Given the description of an element on the screen output the (x, y) to click on. 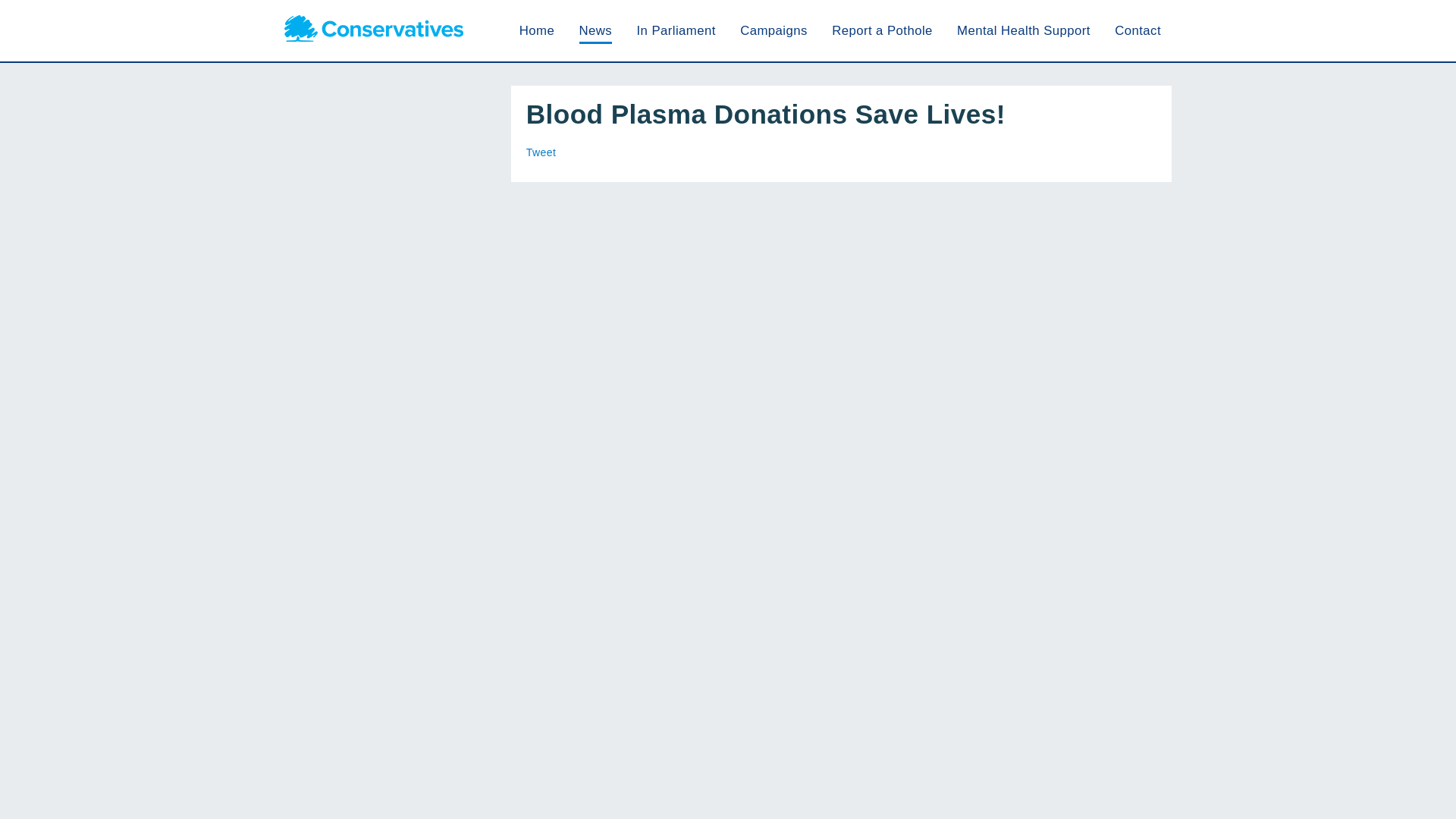
Mental Health Support (1023, 30)
Tweet (540, 152)
Home (536, 30)
Report a Pothole (882, 30)
News (595, 30)
Campaigns (773, 30)
In Parliament (675, 30)
Contact (1137, 30)
